Given the description of an element on the screen output the (x, y) to click on. 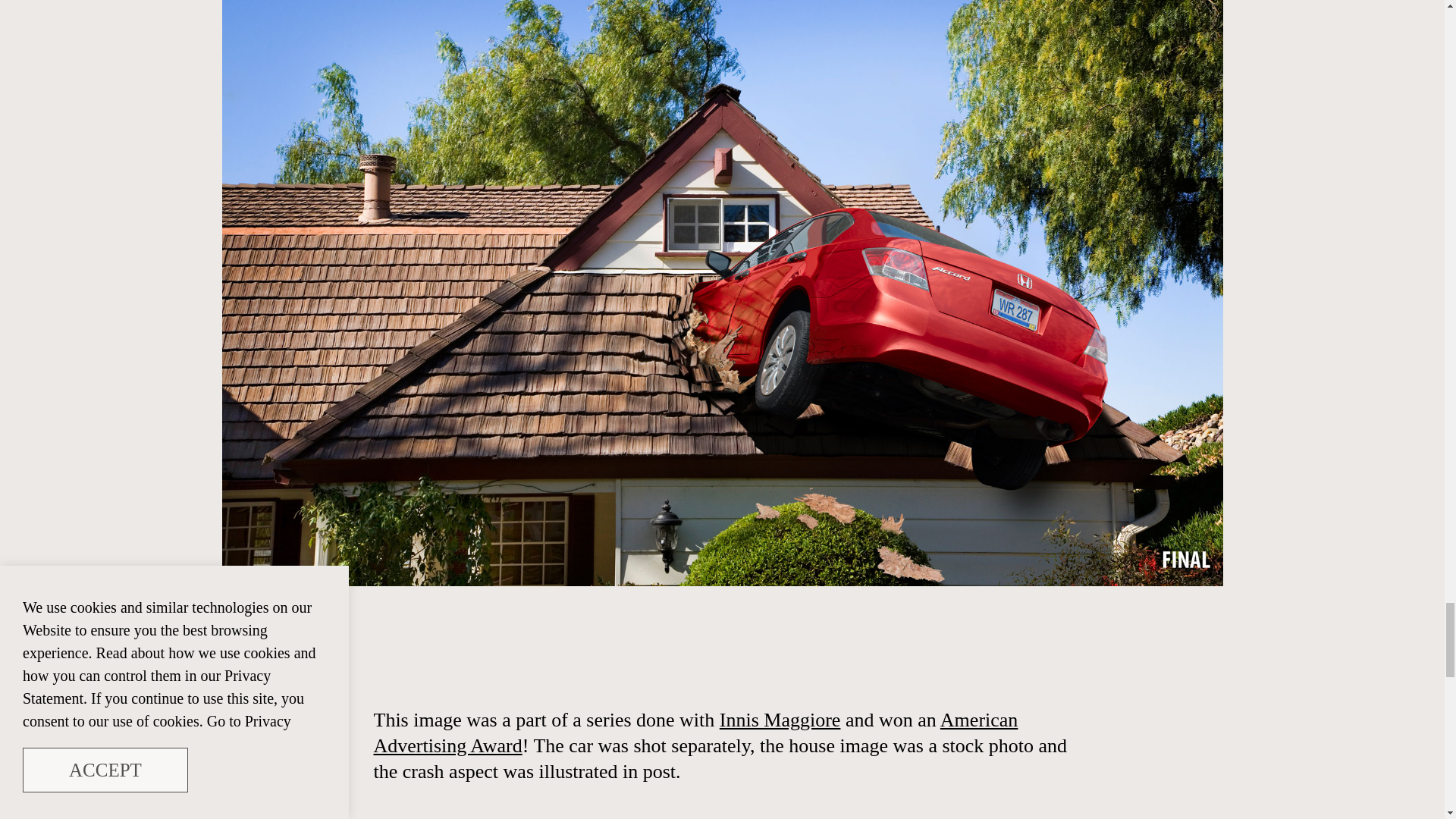
Innis Maggiore (780, 720)
American Advertising Award (694, 732)
